Given the description of an element on the screen output the (x, y) to click on. 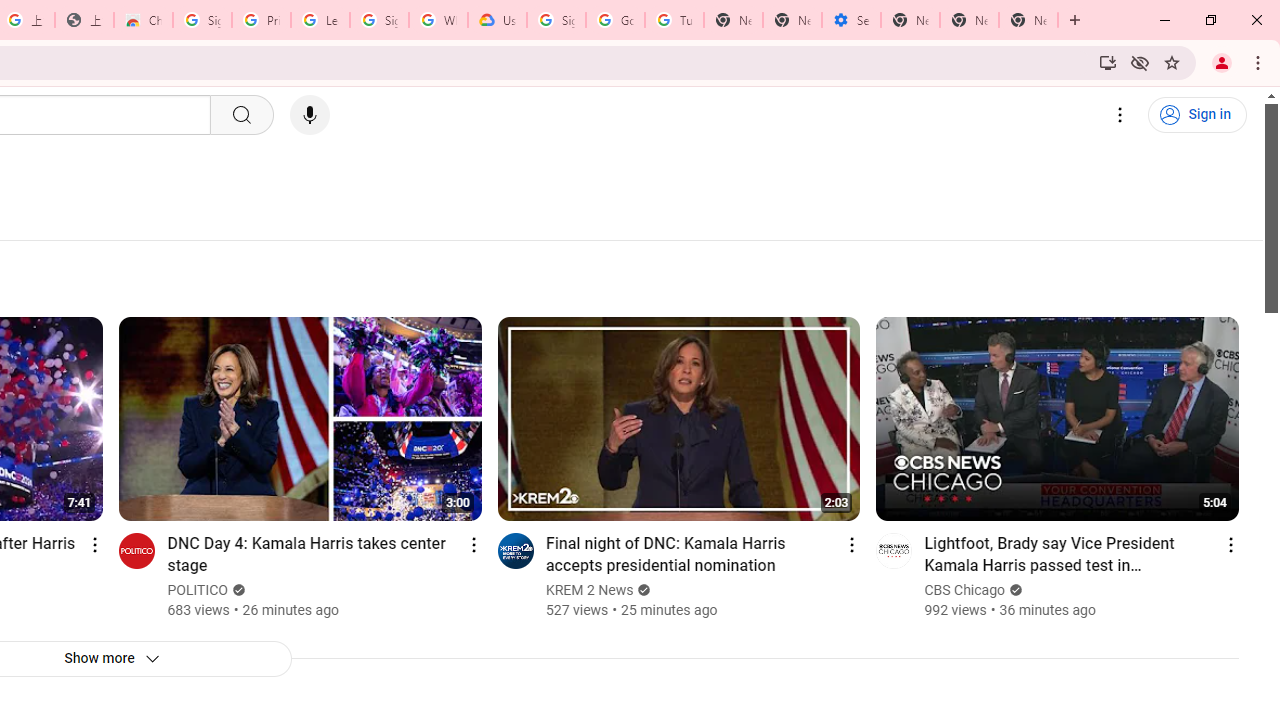
Search (240, 115)
Sign in - Google Accounts (556, 20)
Go to channel (893, 550)
Settings (1119, 115)
Action menu (1229, 544)
New Tab (1028, 20)
New Tab (909, 20)
POLITICO (198, 590)
